Given the description of an element on the screen output the (x, y) to click on. 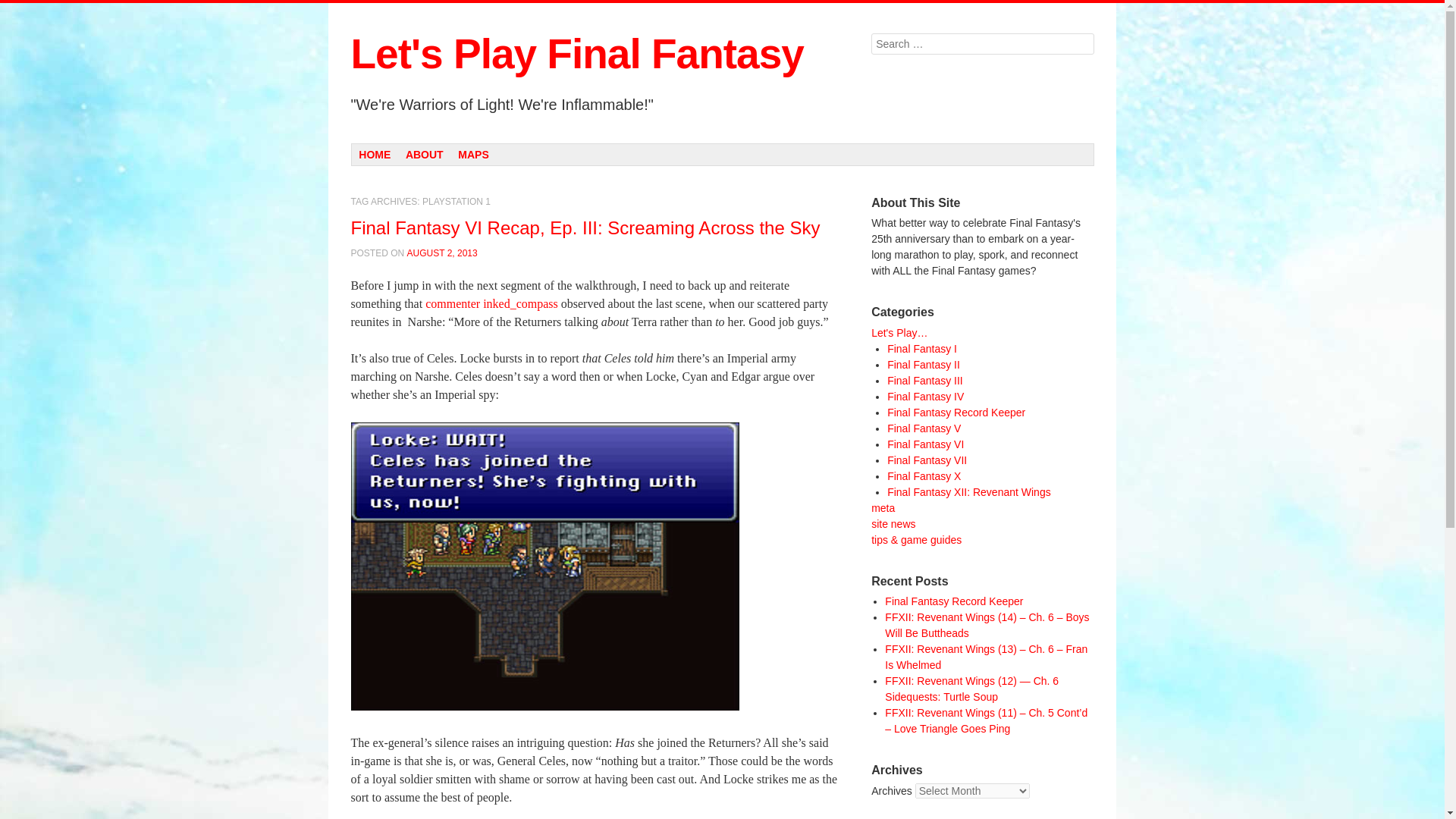
6:49 pm (442, 253)
Final Fantasy V (923, 428)
Final Fantasy IV (924, 396)
MAPS (472, 154)
Final Fantasy III (924, 380)
Let's Play Final Fantasy (576, 53)
ABOUT (423, 154)
Final Fantasy I (921, 348)
Final Fantasy Record Keeper (955, 412)
Final Fantasy VI Recap, Ep. III: Screaming Across the Sky (584, 227)
AUGUST 2, 2013 (442, 253)
Skip to content (405, 152)
Final Fantasy II (922, 364)
Let's Play Final Fantasy (576, 53)
